Given the description of an element on the screen output the (x, y) to click on. 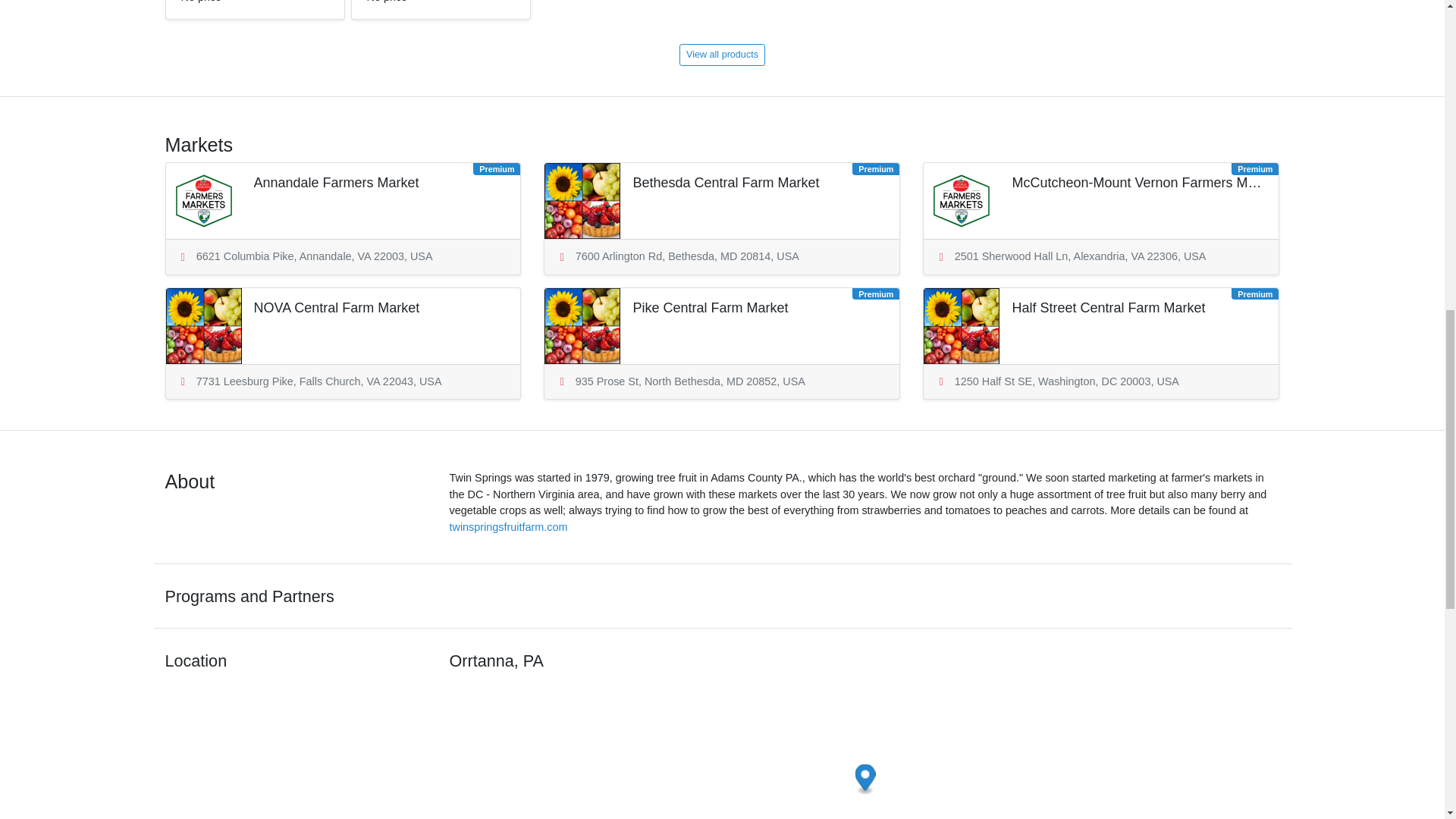
twinspringsfruitfarm.com (255, 9)
View all products (439, 9)
